Given the description of an element on the screen output the (x, y) to click on. 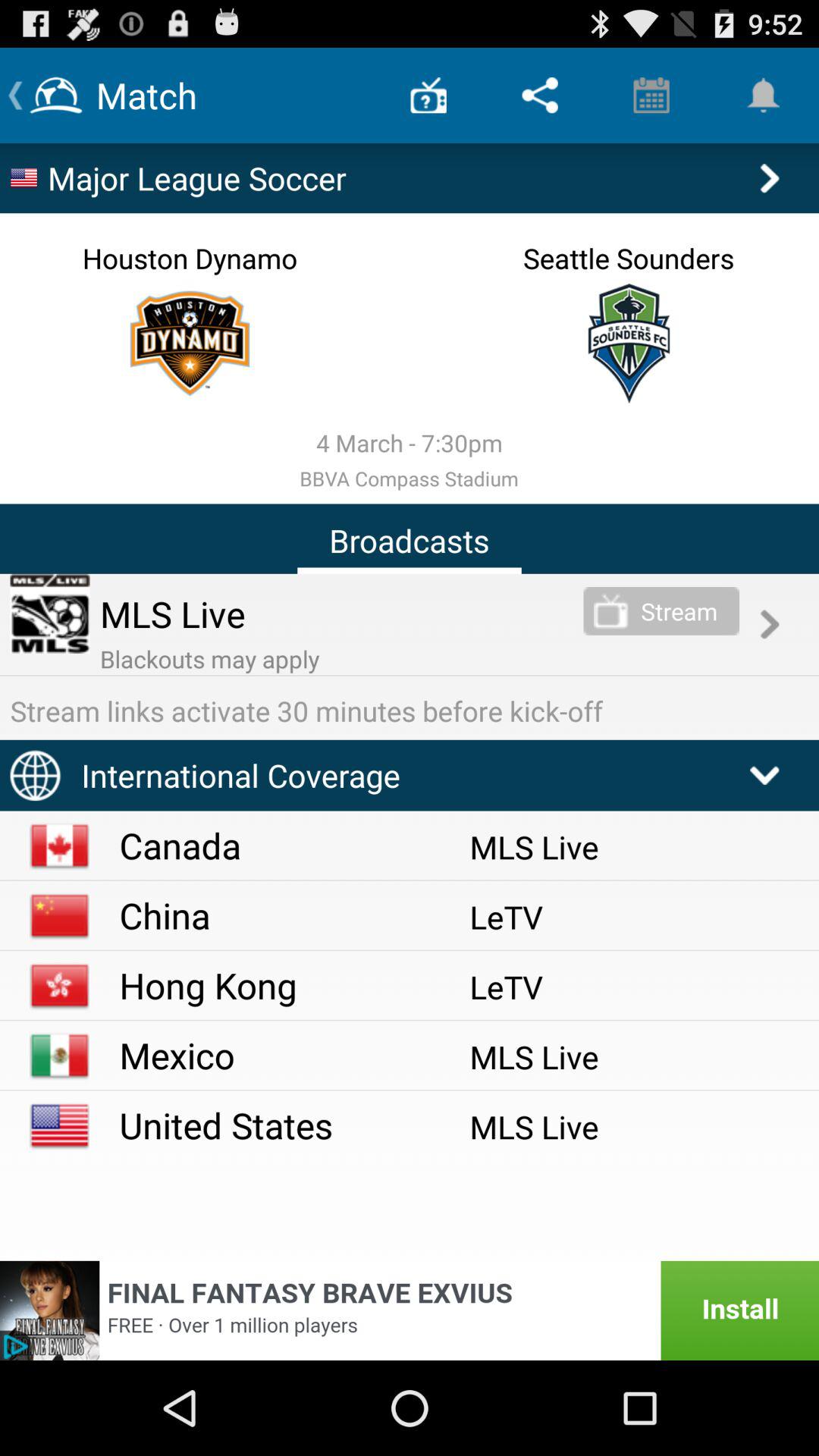
install final fantasy brave exvius (409, 1310)
